Given the description of an element on the screen output the (x, y) to click on. 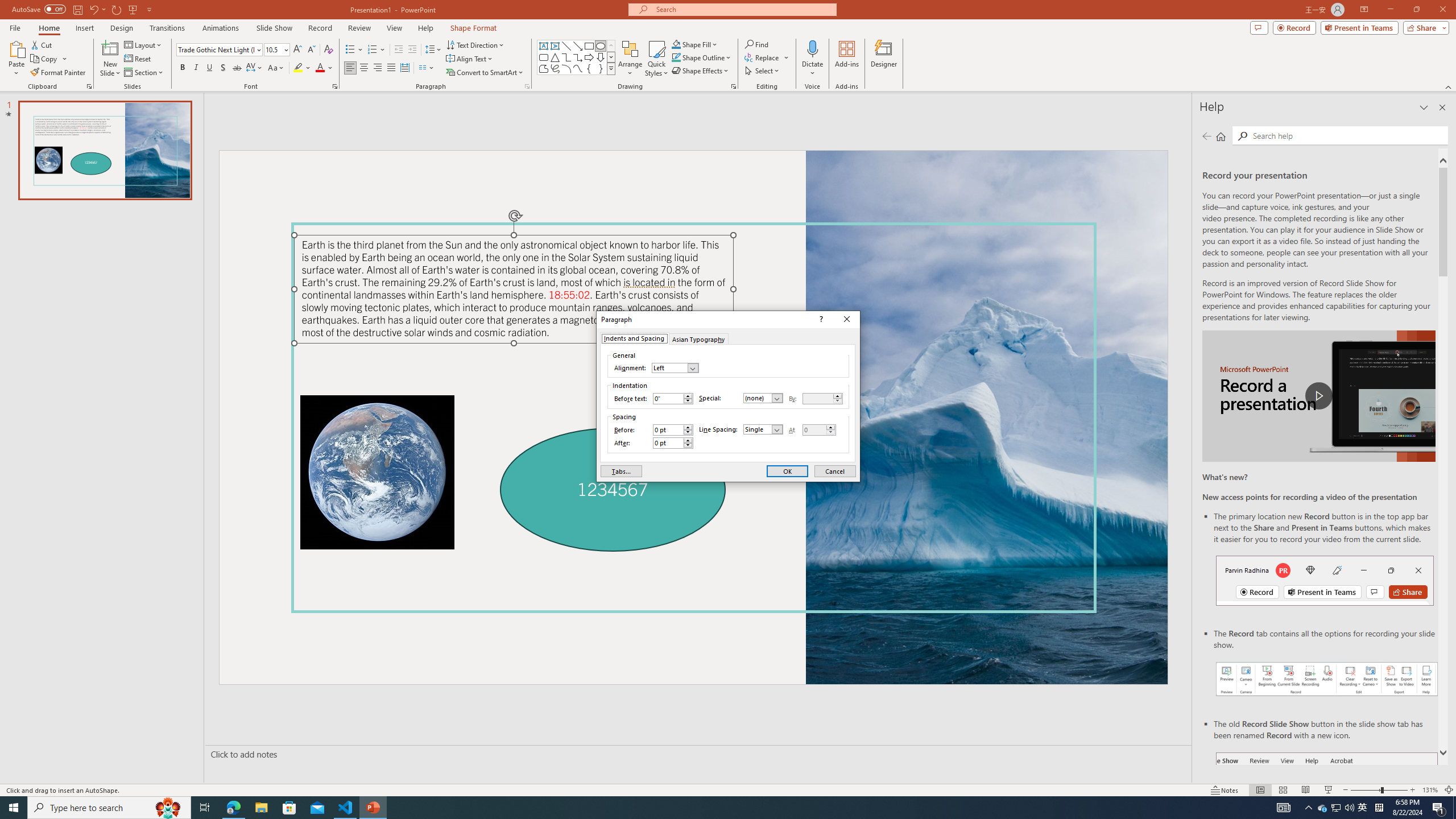
Cancel (834, 470)
